Given the description of an element on the screen output the (x, y) to click on. 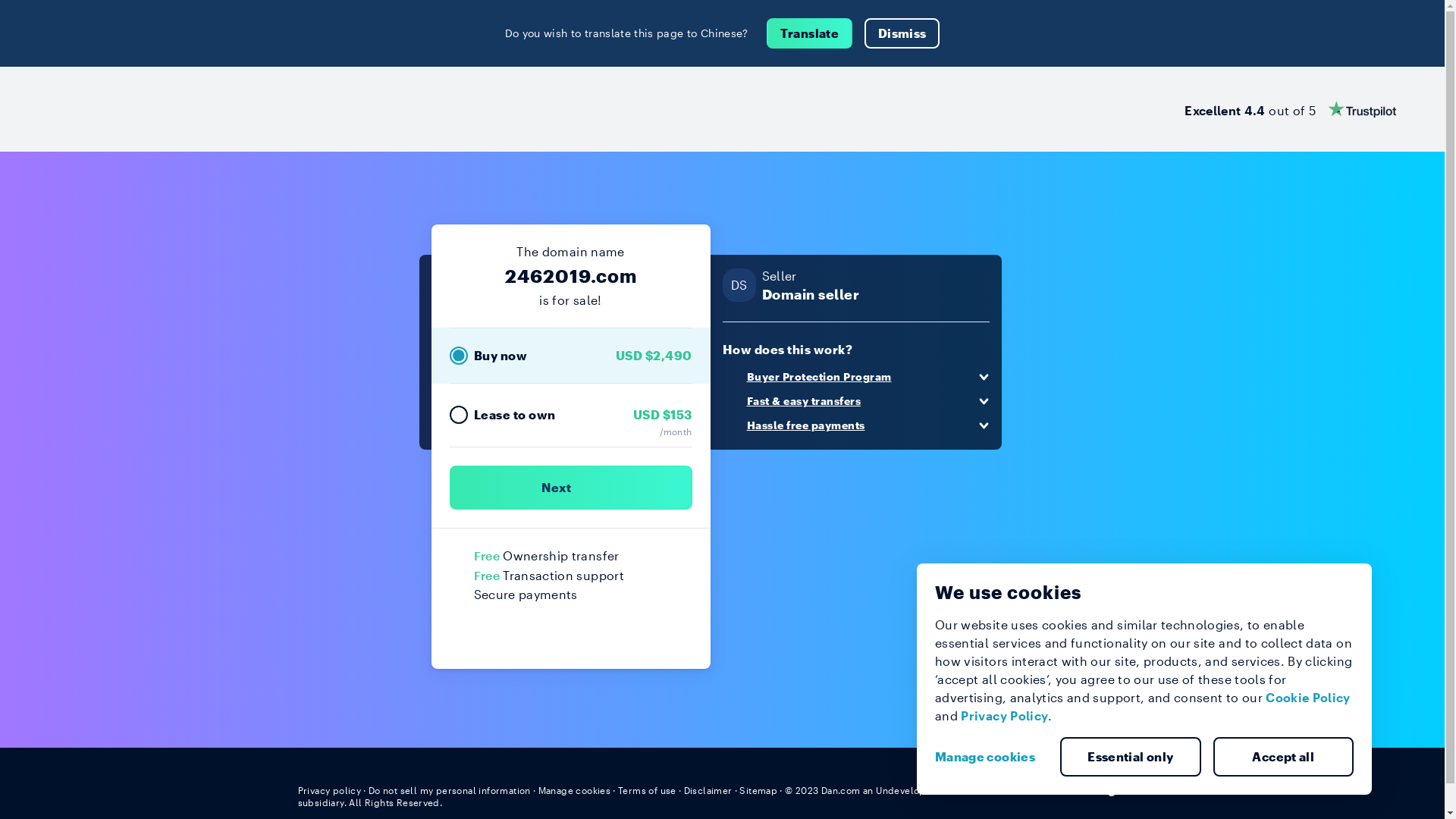
Do not sell my personal information Element type: text (449, 789)
Manage cookies Element type: text (991, 756)
Excellent 4.4 out of 5 Element type: text (1290, 109)
Cookie Policy Element type: text (1307, 697)
Translate Element type: text (809, 33)
Next
) Element type: text (569, 487)
Privacy Policy Element type: text (1004, 715)
Sitemap Element type: text (758, 789)
Accept all Element type: text (1283, 756)
Disclaimer Element type: text (708, 789)
Privacy policy Element type: text (328, 789)
English Element type: text (1119, 789)
Terms of use Element type: text (647, 789)
Dismiss Element type: text (901, 33)
Manage cookies Element type: text (574, 790)
Essential only Element type: text (1130, 756)
